Given the description of an element on the screen output the (x, y) to click on. 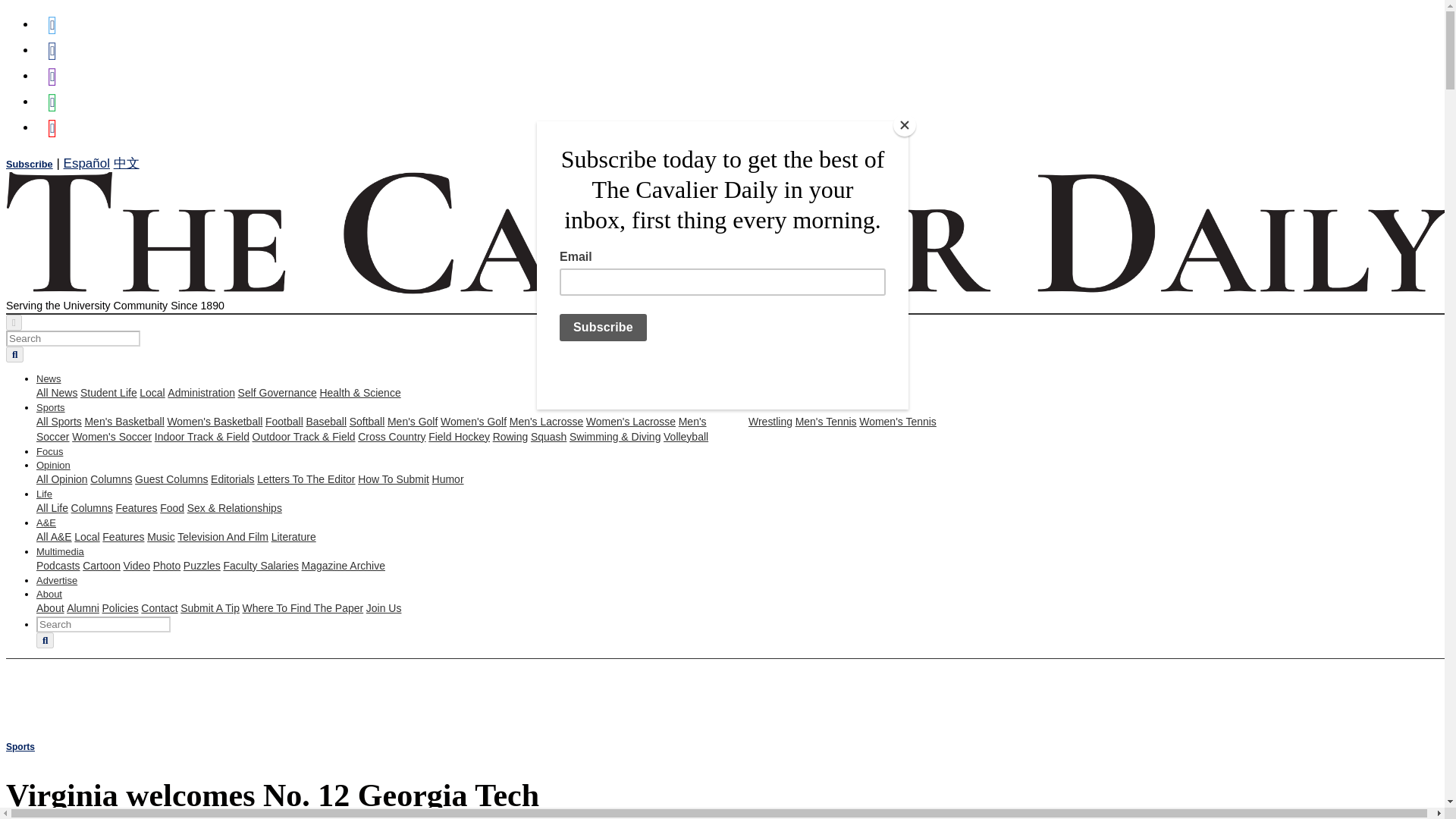
Volleyball (685, 436)
Local (151, 392)
Cross Country (391, 436)
Squash (548, 436)
Sports (50, 407)
All News (56, 392)
Baseball (325, 421)
Wrestling (770, 421)
Advertise (56, 580)
Women'S Soccer (111, 436)
Administration (200, 392)
Men'S Lacrosse (546, 421)
Women'S Basketball (214, 421)
Football (283, 421)
Self Governance (277, 392)
